Given the description of an element on the screen output the (x, y) to click on. 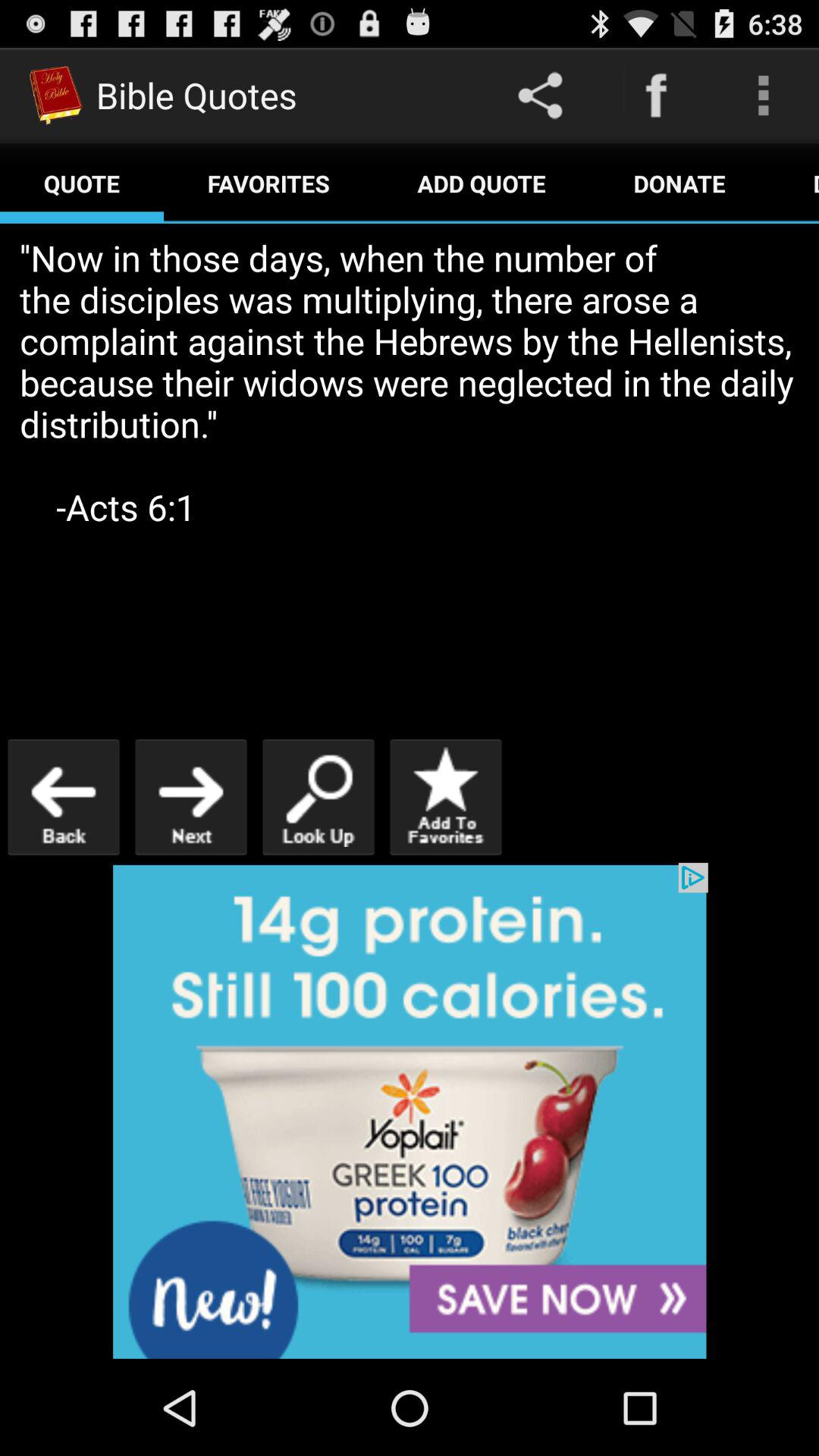
go back (63, 796)
